Given the description of an element on the screen output the (x, y) to click on. 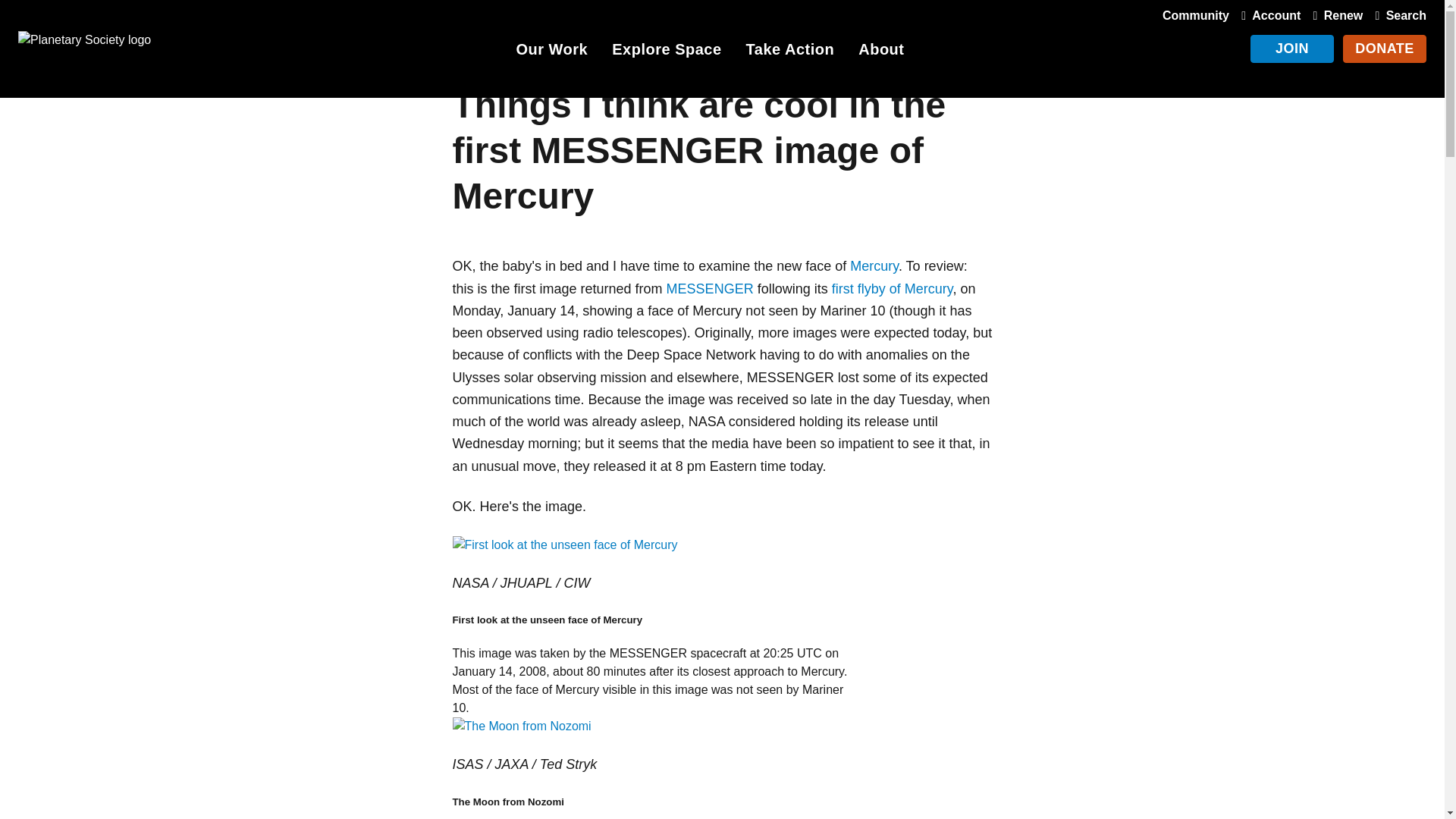
Search (1397, 15)
Community (1194, 15)
About (881, 51)
Account (1267, 15)
Take Action (789, 51)
Explore Space (665, 51)
JOIN (1291, 49)
Our Work (551, 51)
Renew (1334, 15)
DONATE (1384, 49)
